Given the description of an element on the screen output the (x, y) to click on. 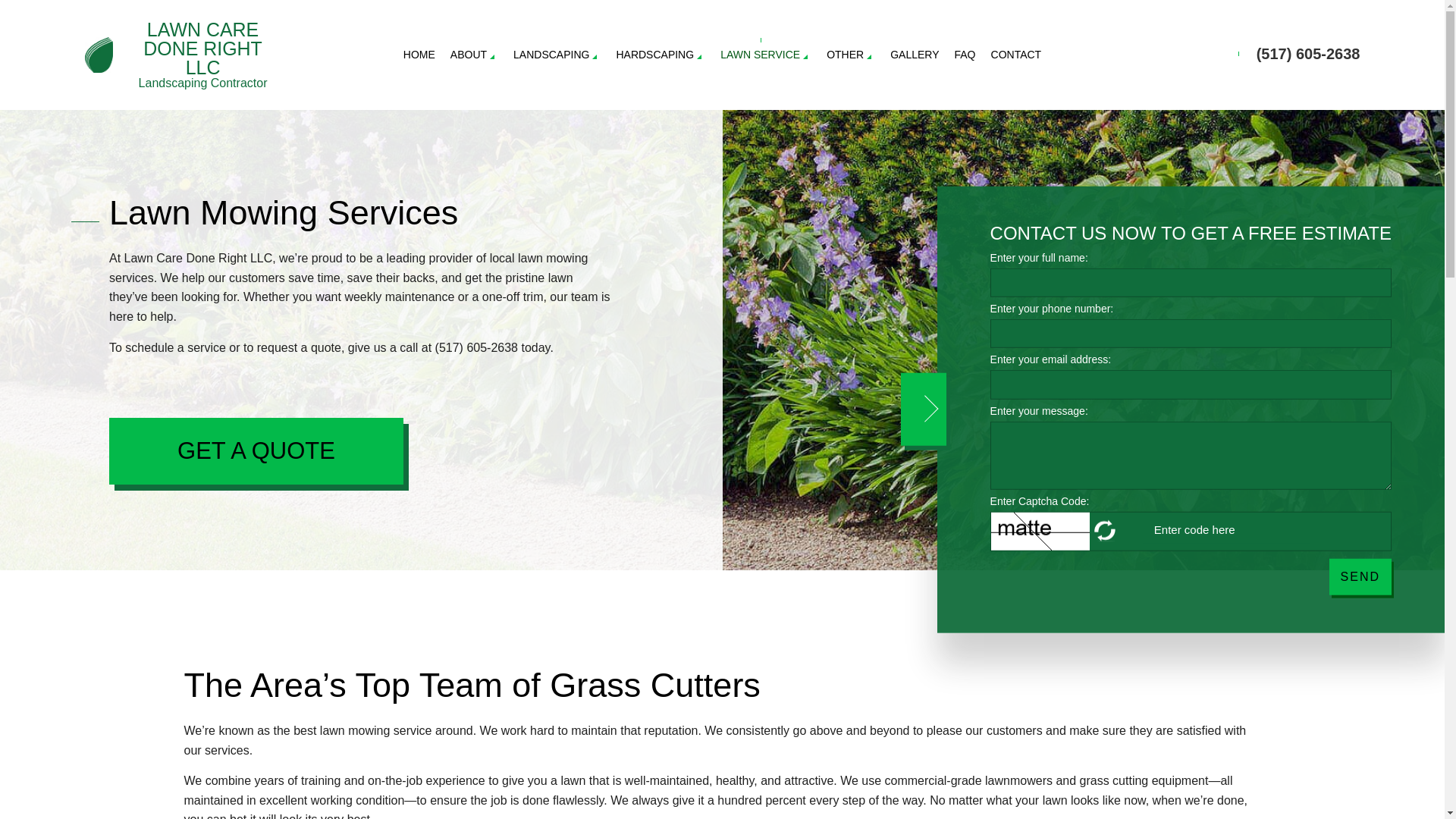
Refresh Captcha (1105, 531)
Full Name (1190, 282)
Captcha Code (1225, 529)
Phone Number (1190, 333)
Your Message (1190, 454)
Lawn Care Done Right LLC (98, 53)
Email Address (1190, 384)
